Given the description of an element on the screen output the (x, y) to click on. 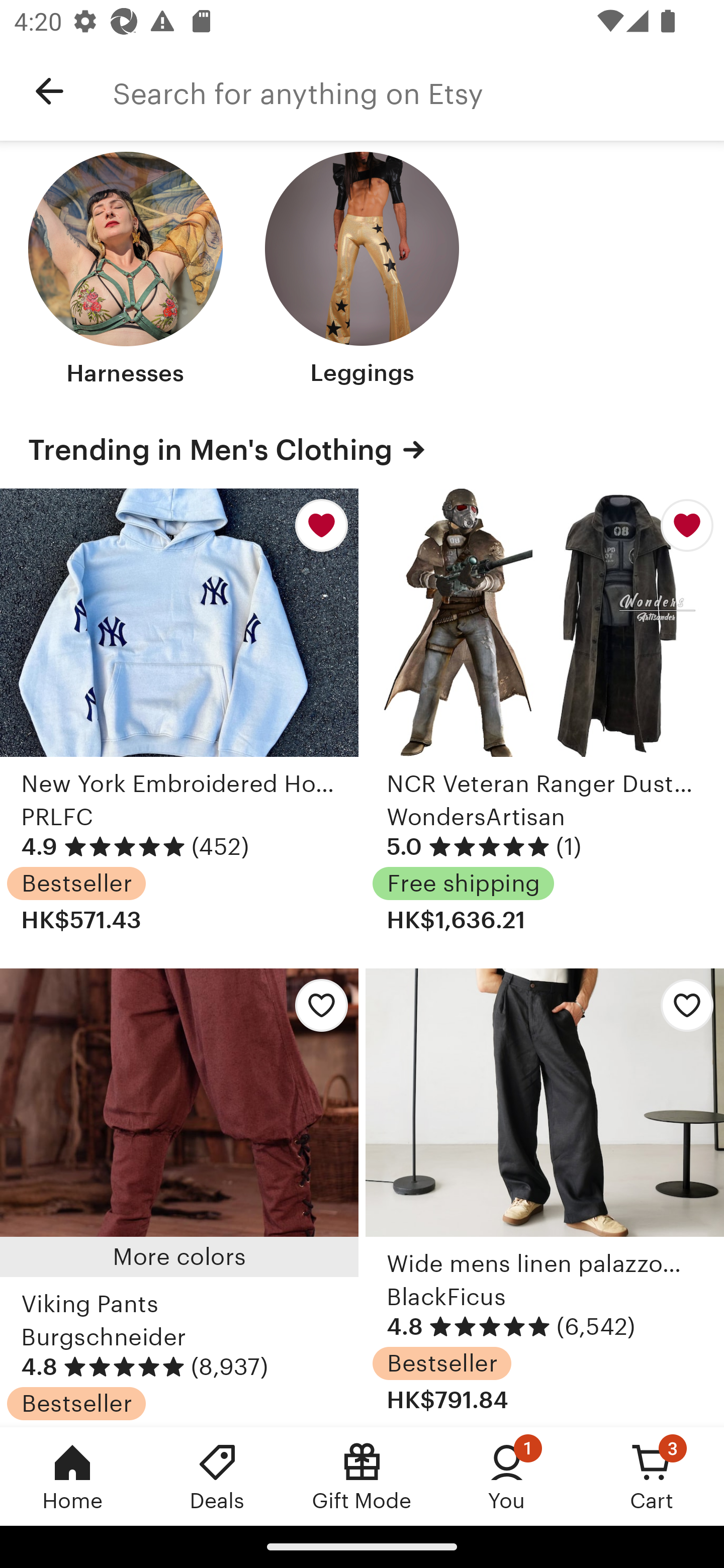
Navigate up (49, 91)
Search for anything on Etsy (418, 91)
Harnesses (125, 271)
Leggings (361, 271)
Trending in Men's Clothing  (361, 449)
Add Viking Pants to favorites (315, 1010)
Deals (216, 1475)
Gift Mode (361, 1475)
You, 1 new notification You (506, 1475)
Cart, 3 new notifications Cart (651, 1475)
